Given the description of an element on the screen output the (x, y) to click on. 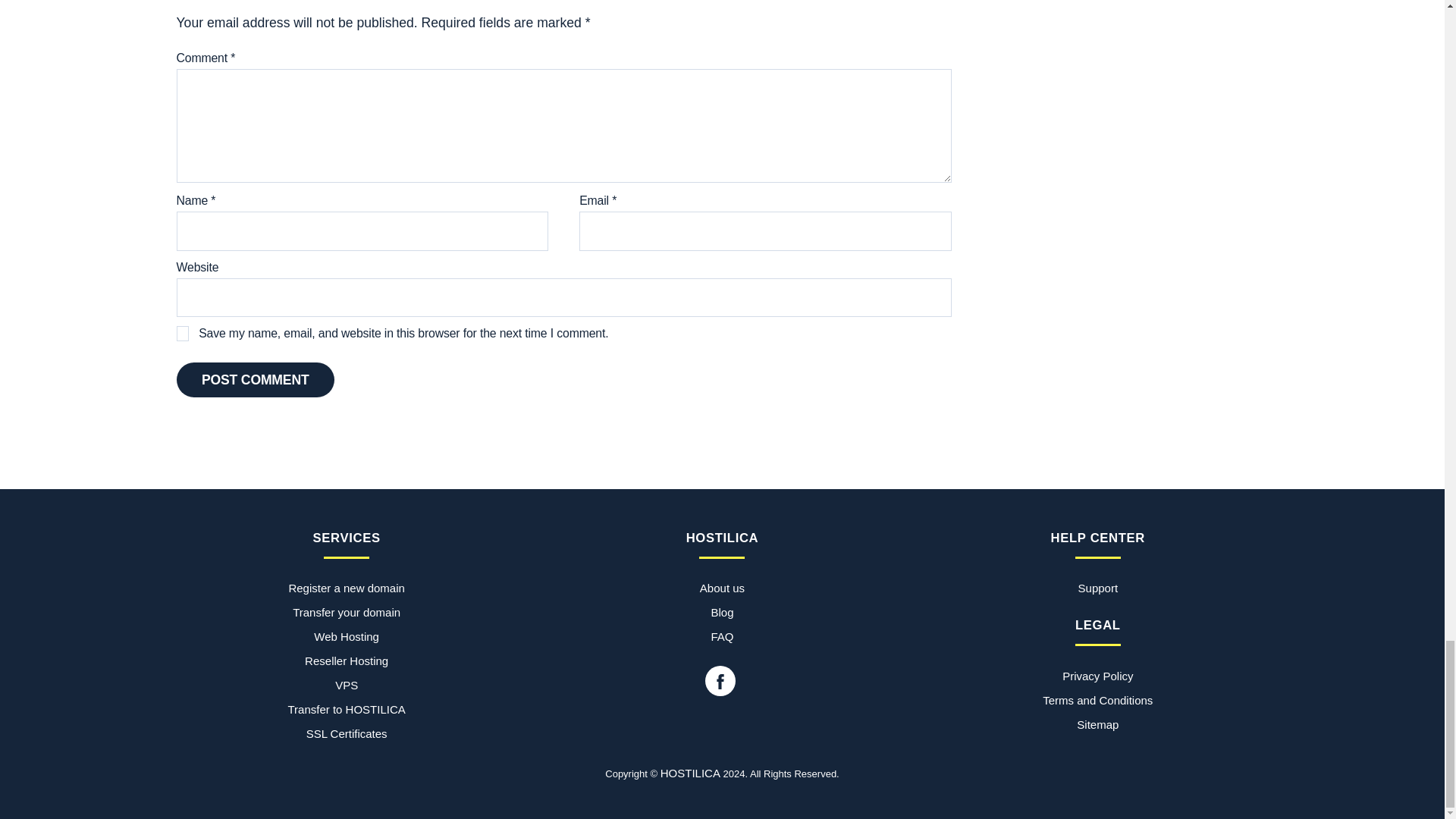
Post Comment (254, 379)
Post Comment (254, 379)
